Given the description of an element on the screen output the (x, y) to click on. 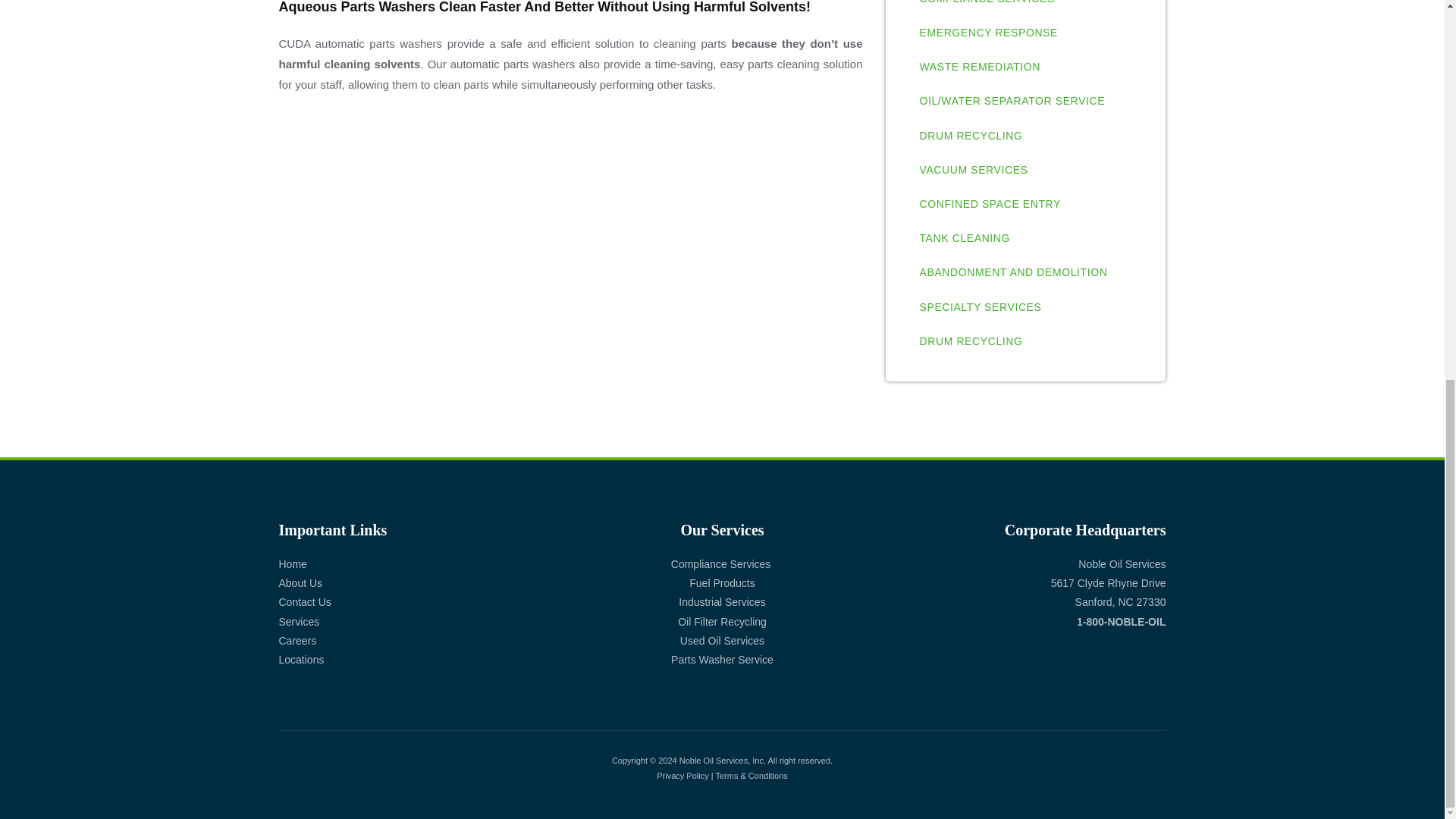
DRUM RECYCLING (970, 135)
VACUUM SERVICES (973, 170)
COMPLIANCE SERVICES (986, 7)
EMERGENCY RESPONSE (987, 32)
SPECIALTY SERVICES (979, 307)
Home (293, 563)
DRUM RECYCLING (970, 341)
TANK CLEANING (964, 238)
ABANDONMENT AND DEMOLITION (1013, 272)
CONFINED SPACE ENTRY (989, 204)
